Given the description of an element on the screen output the (x, y) to click on. 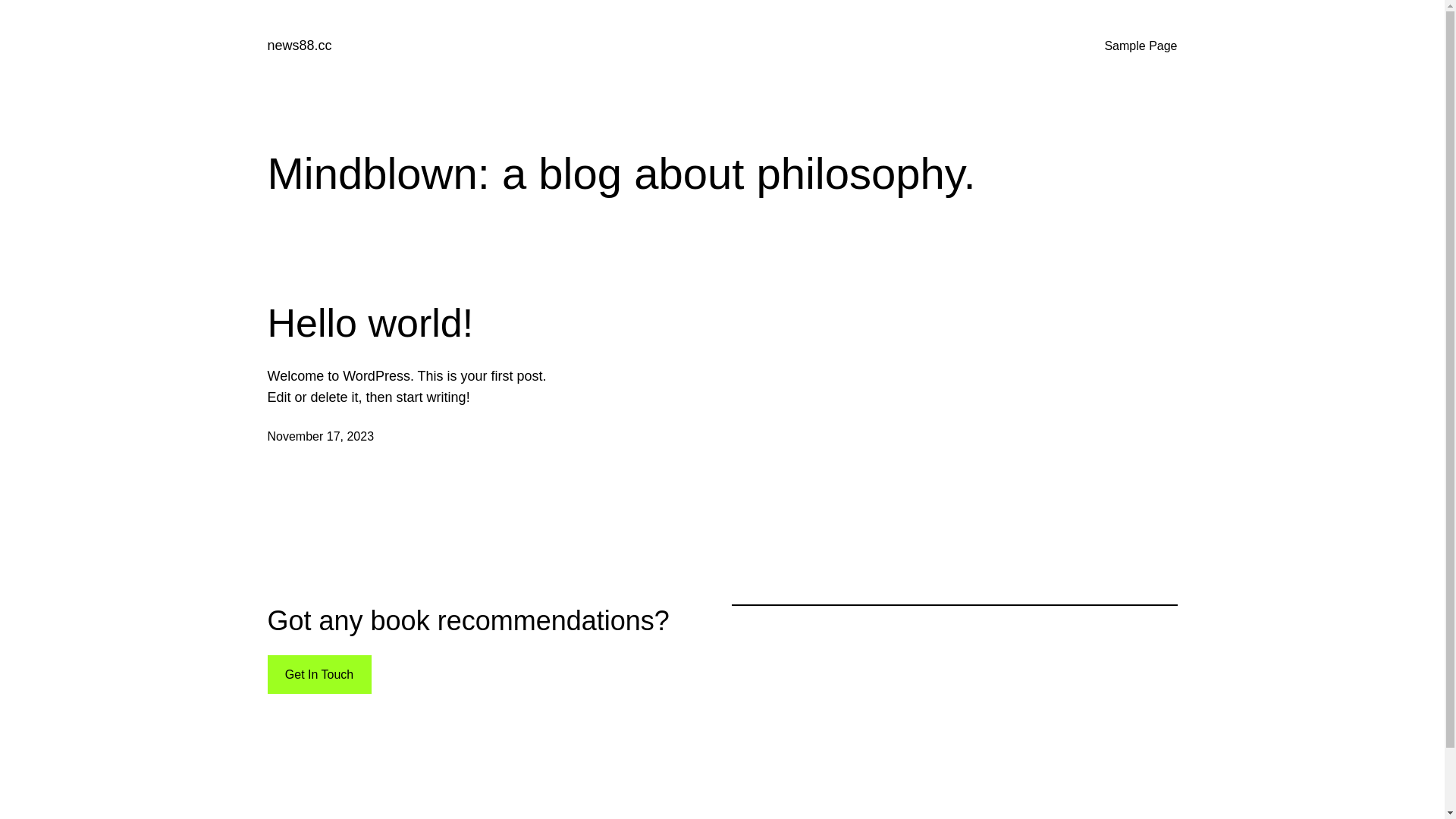
news88.cc Element type: text (298, 45)
November 17, 2023 Element type: text (319, 435)
Hello world! Element type: text (369, 322)
Sample Page Element type: text (1140, 46)
Get In Touch Element type: text (318, 674)
